Given the description of an element on the screen output the (x, y) to click on. 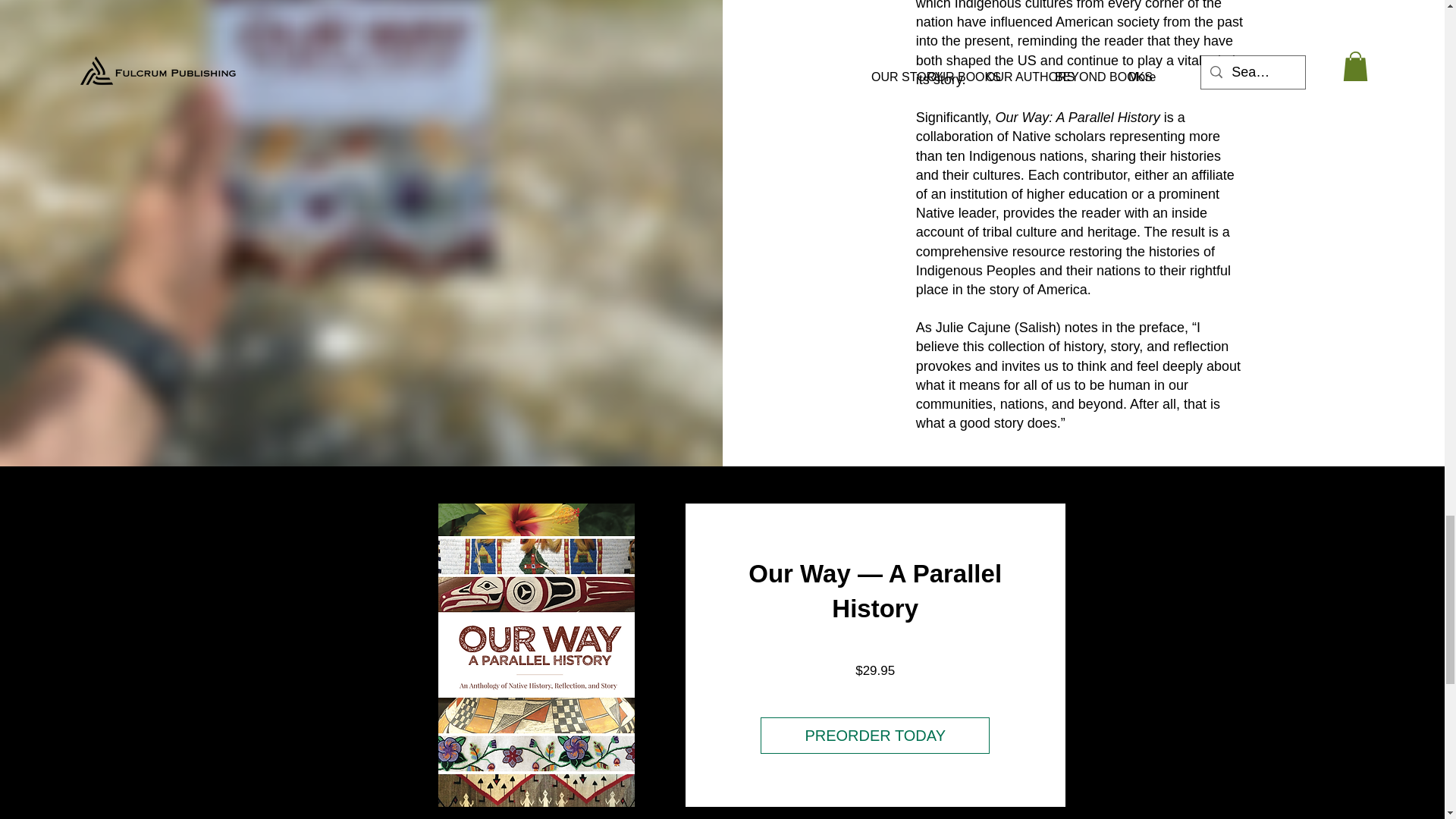
PREORDER TODAY (874, 735)
